Given the description of an element on the screen output the (x, y) to click on. 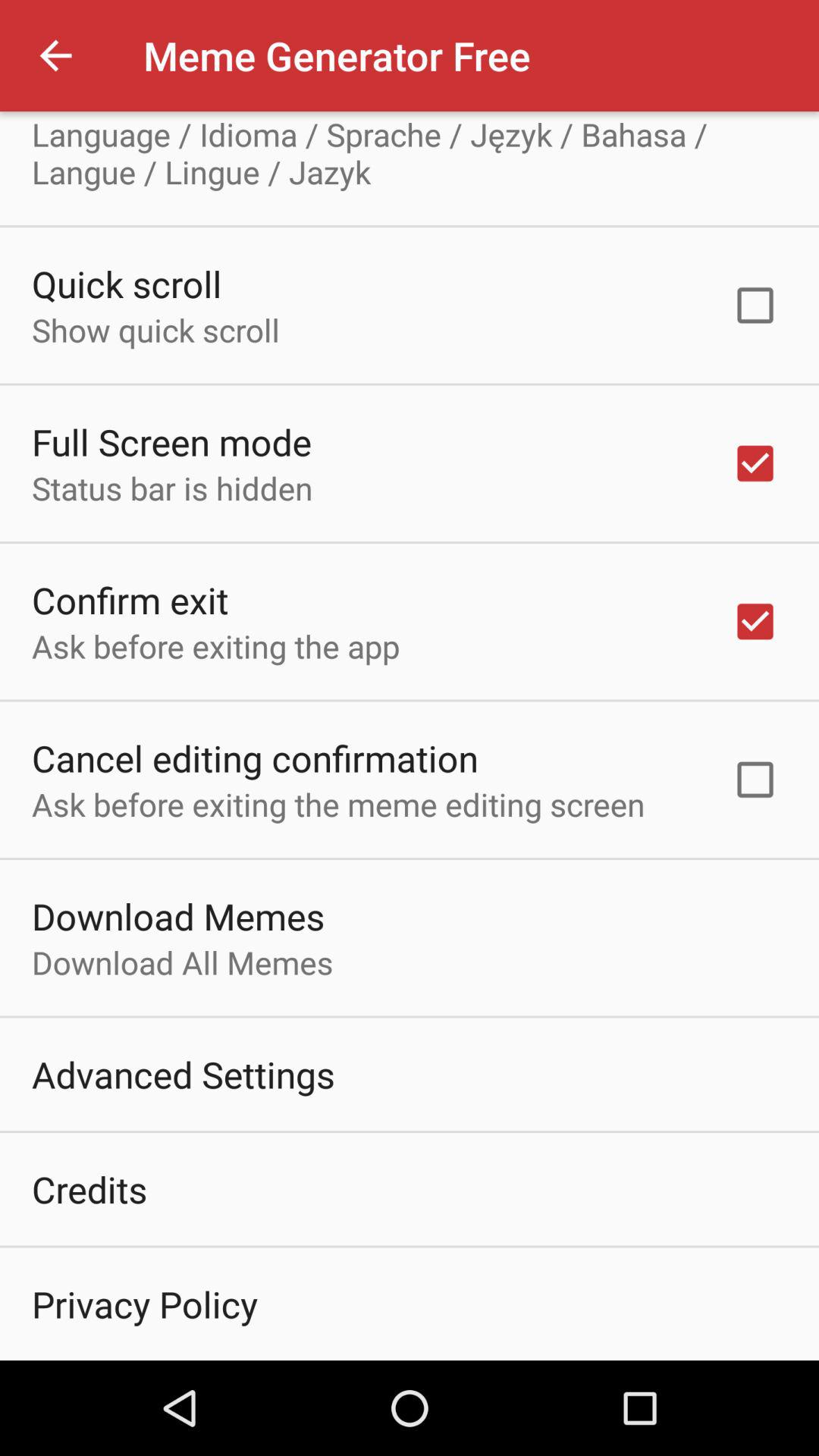
turn off the item below download all memes icon (182, 1073)
